Given the description of an element on the screen output the (x, y) to click on. 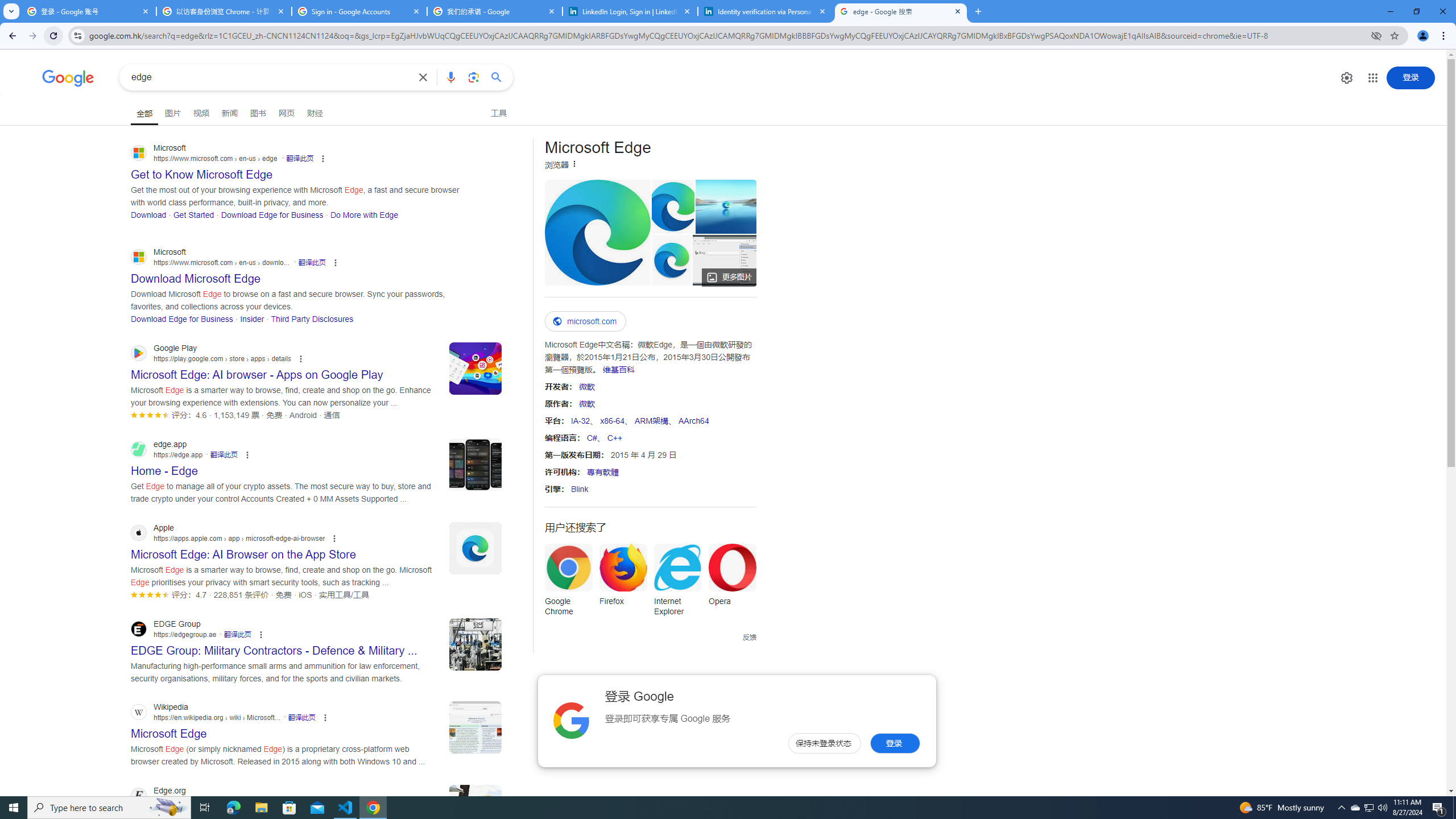
AArch64 (693, 420)
Browse InPrivate in Microsoft Edge - Microsoft Support (725, 260)
Firefox (623, 578)
Sign in - Google Accounts (359, 11)
